Given the description of an element on the screen output the (x, y) to click on. 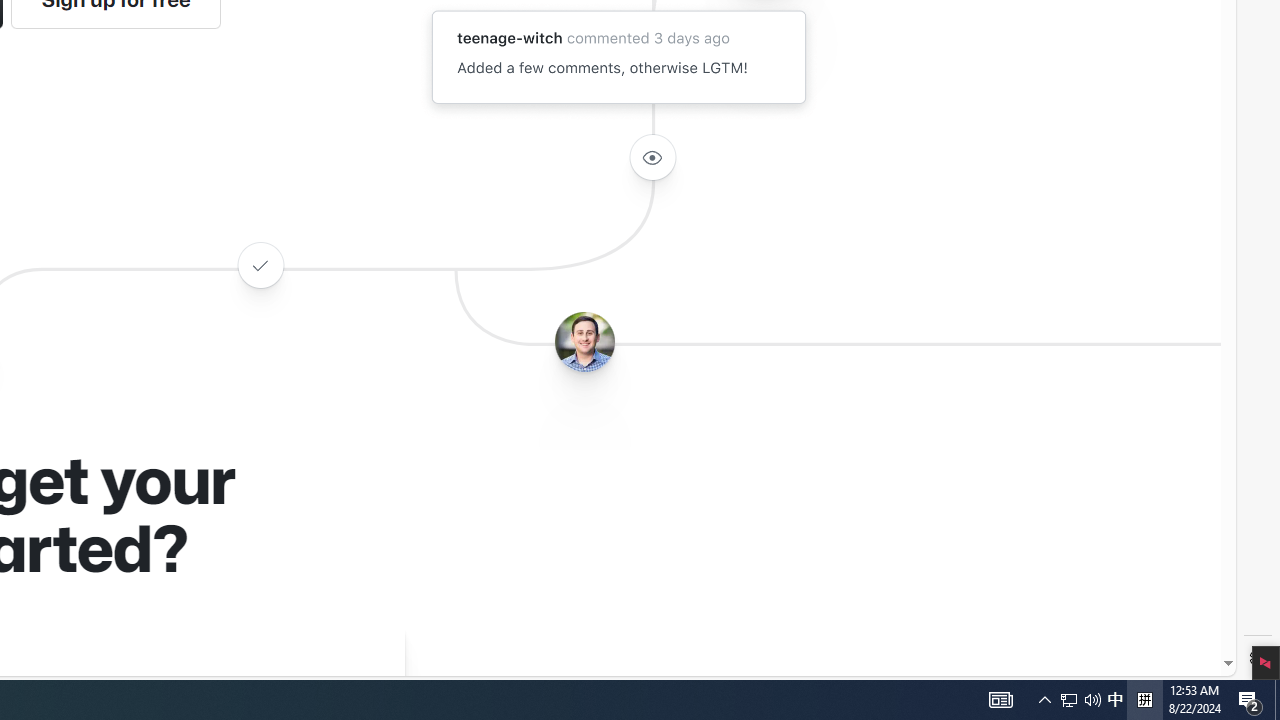
Avatar of the user benbalter (584, 341)
Class: color-fg-muted width-full (260, 264)
